Given the description of an element on the screen output the (x, y) to click on. 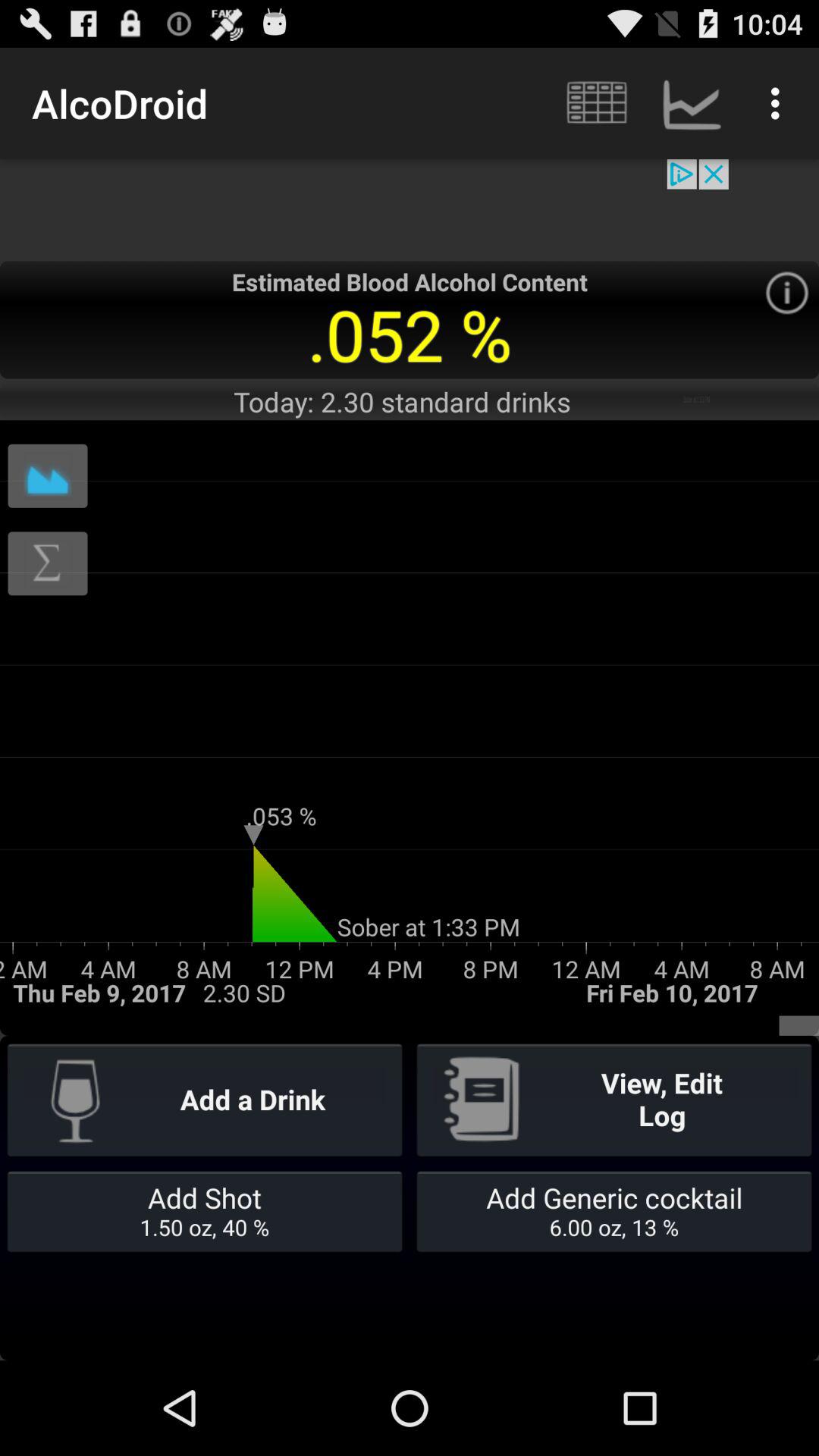
toggle a select option (787, 292)
